Given the description of an element on the screen output the (x, y) to click on. 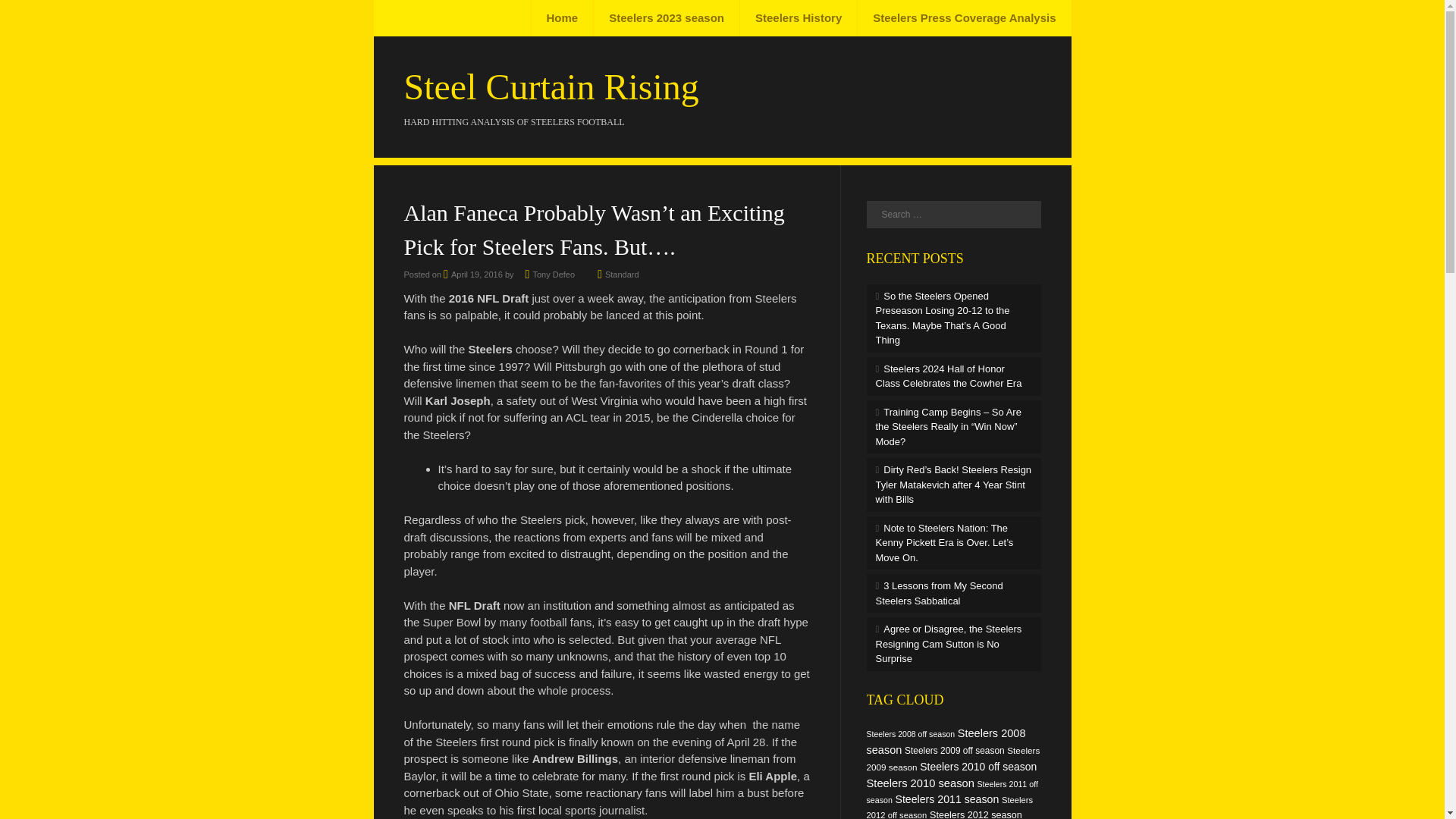
Steel Curtain Rising (550, 86)
Skip to content (429, 18)
3 Lessons from My Second Steelers Sabbatical (939, 592)
Skip to content (429, 18)
Steelers 2024 Hall of Honor Class Celebrates the Cowher Era (948, 375)
Steelers Press Coverage Analysis (963, 18)
10:38 AM (473, 274)
41 topics (910, 733)
Steelers 2009 season (952, 758)
